Given the description of an element on the screen output the (x, y) to click on. 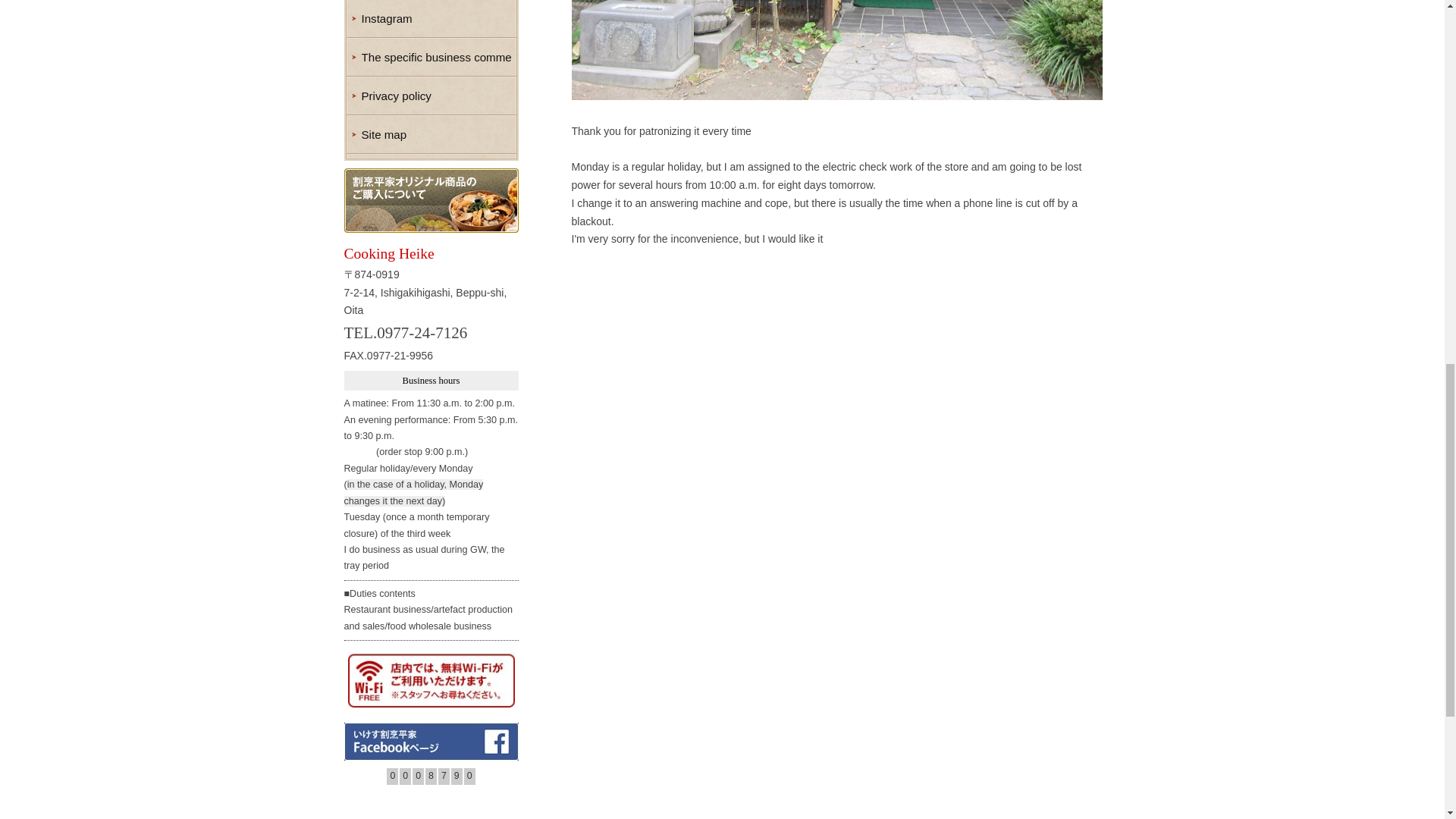
Privacy policy (430, 95)
The specific business commercial law (430, 56)
About the purchase of the Cooking Heike original product (430, 200)
Site map (430, 134)
"Fish preserve cooking Heike" formula Facebook page (430, 741)
Instagram (430, 18)
